Given the description of an element on the screen output the (x, y) to click on. 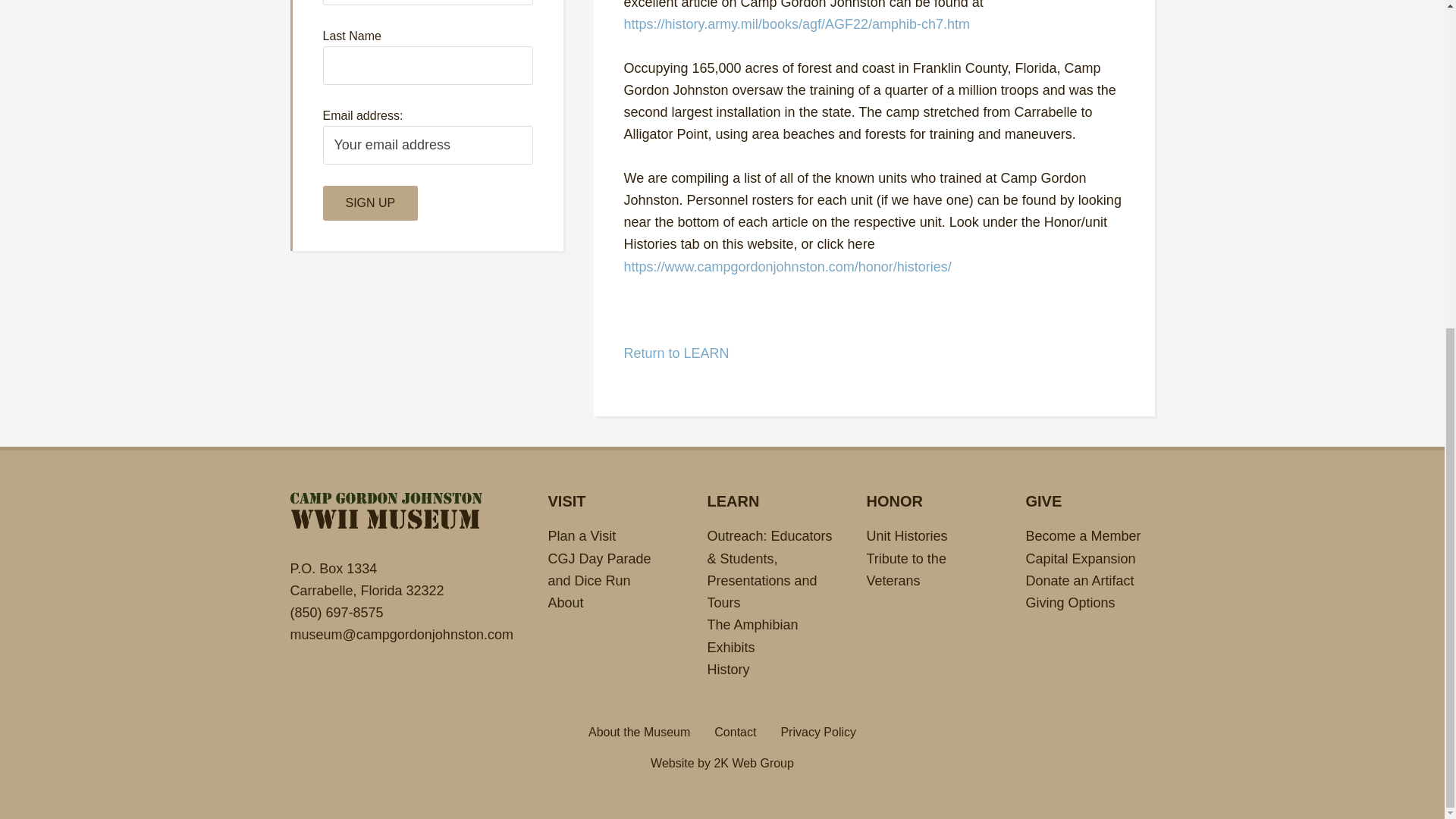
Tribute to the Veterans (905, 569)
Return to LEARN (676, 353)
Exhibits (730, 647)
Become a Member (1082, 535)
Sign up (371, 202)
Unit Histories (906, 535)
Sign up (371, 202)
History (727, 669)
Capital Expansion (1080, 557)
Plan a Visit (581, 535)
